Given the description of an element on the screen output the (x, y) to click on. 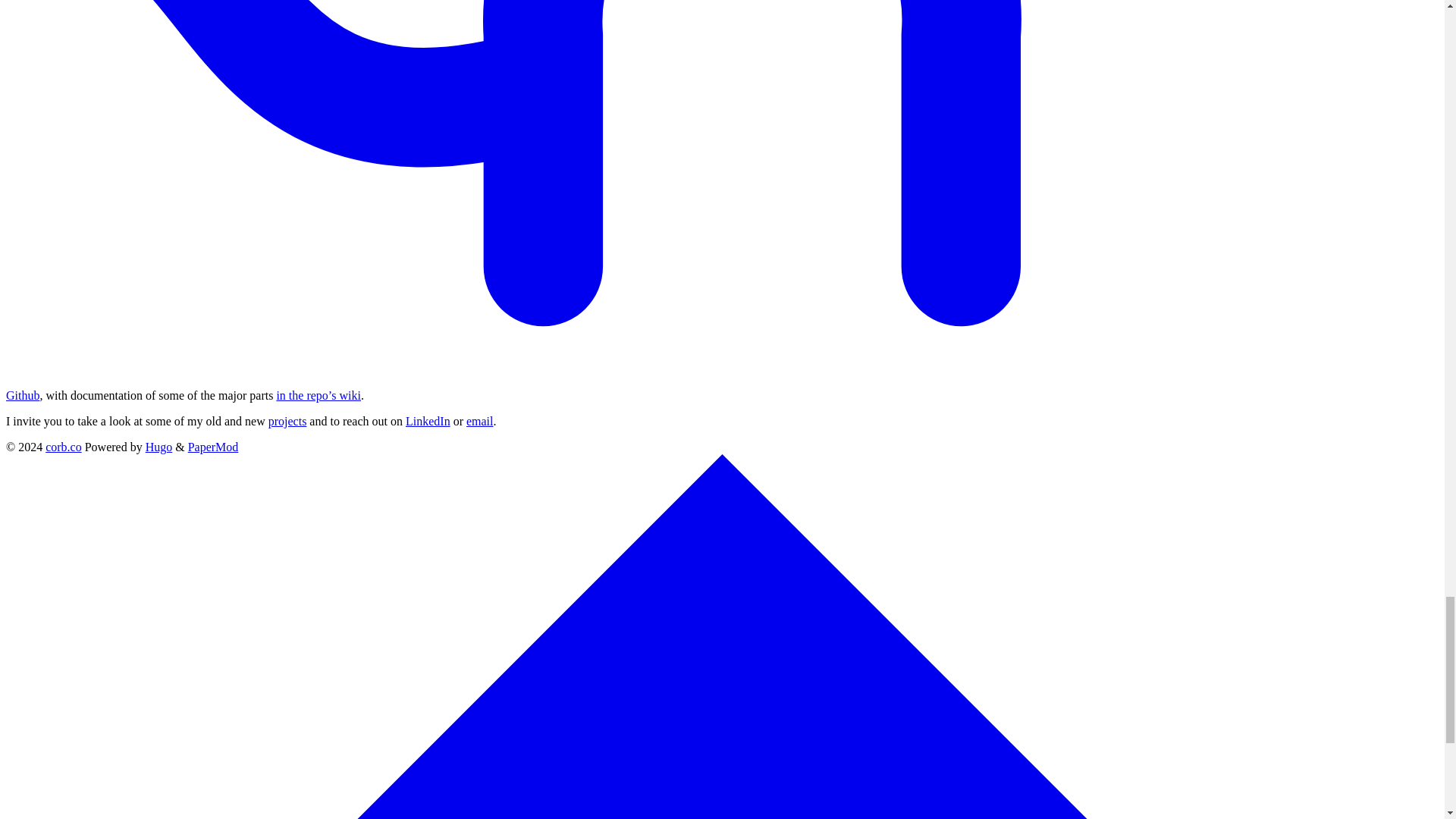
PaperMod (212, 446)
Hugo (159, 446)
LinkedIn (427, 420)
corb.co (63, 446)
projects (287, 420)
email (479, 420)
